Given the description of an element on the screen output the (x, y) to click on. 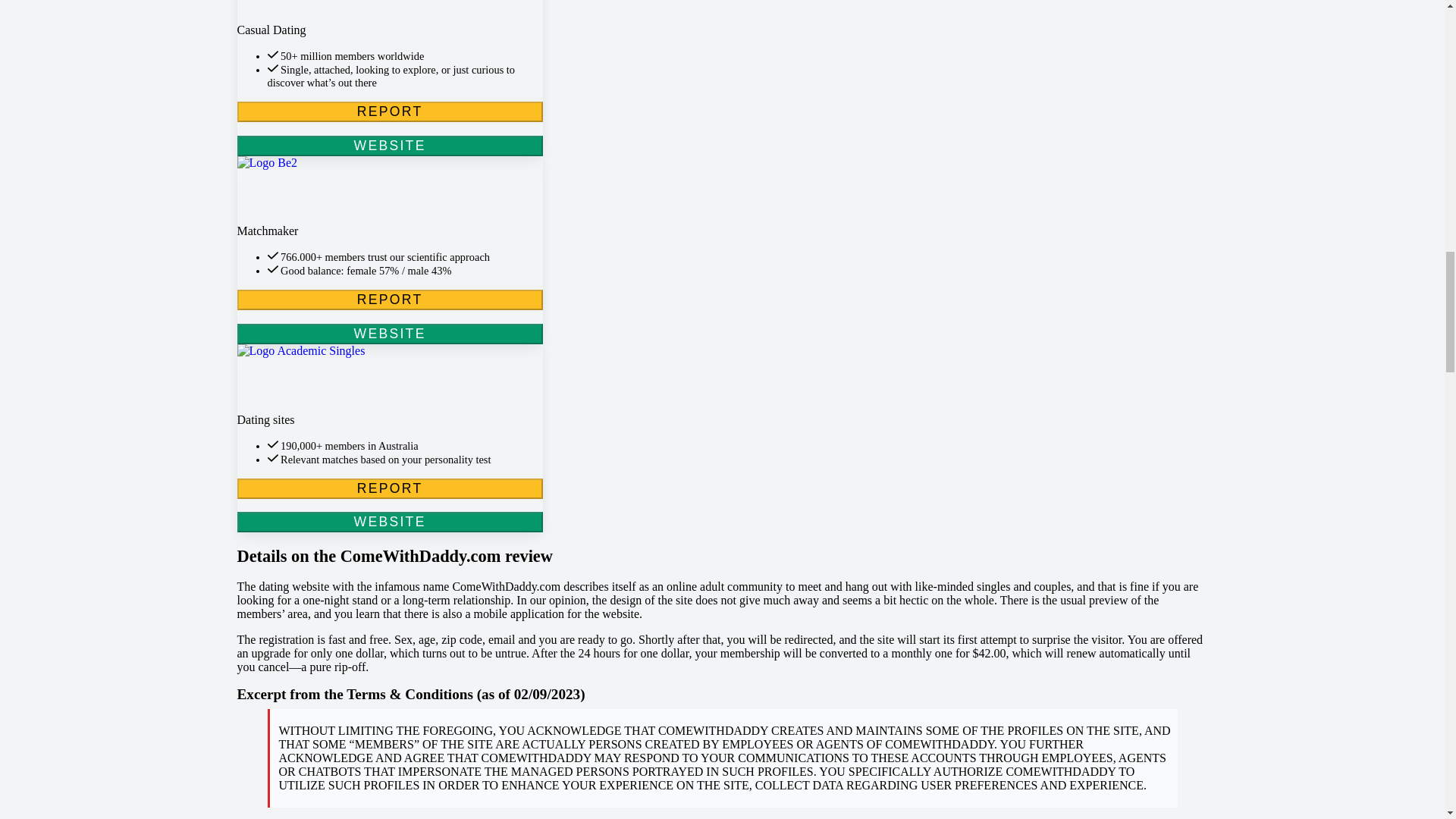
Open website (388, 11)
Open website (388, 190)
Open website (388, 145)
Read test report (388, 299)
REPORT (388, 111)
Open website (388, 378)
REPORT (388, 111)
Open website (388, 521)
Read test report (388, 488)
WEBSITE (388, 145)
